Given the description of an element on the screen output the (x, y) to click on. 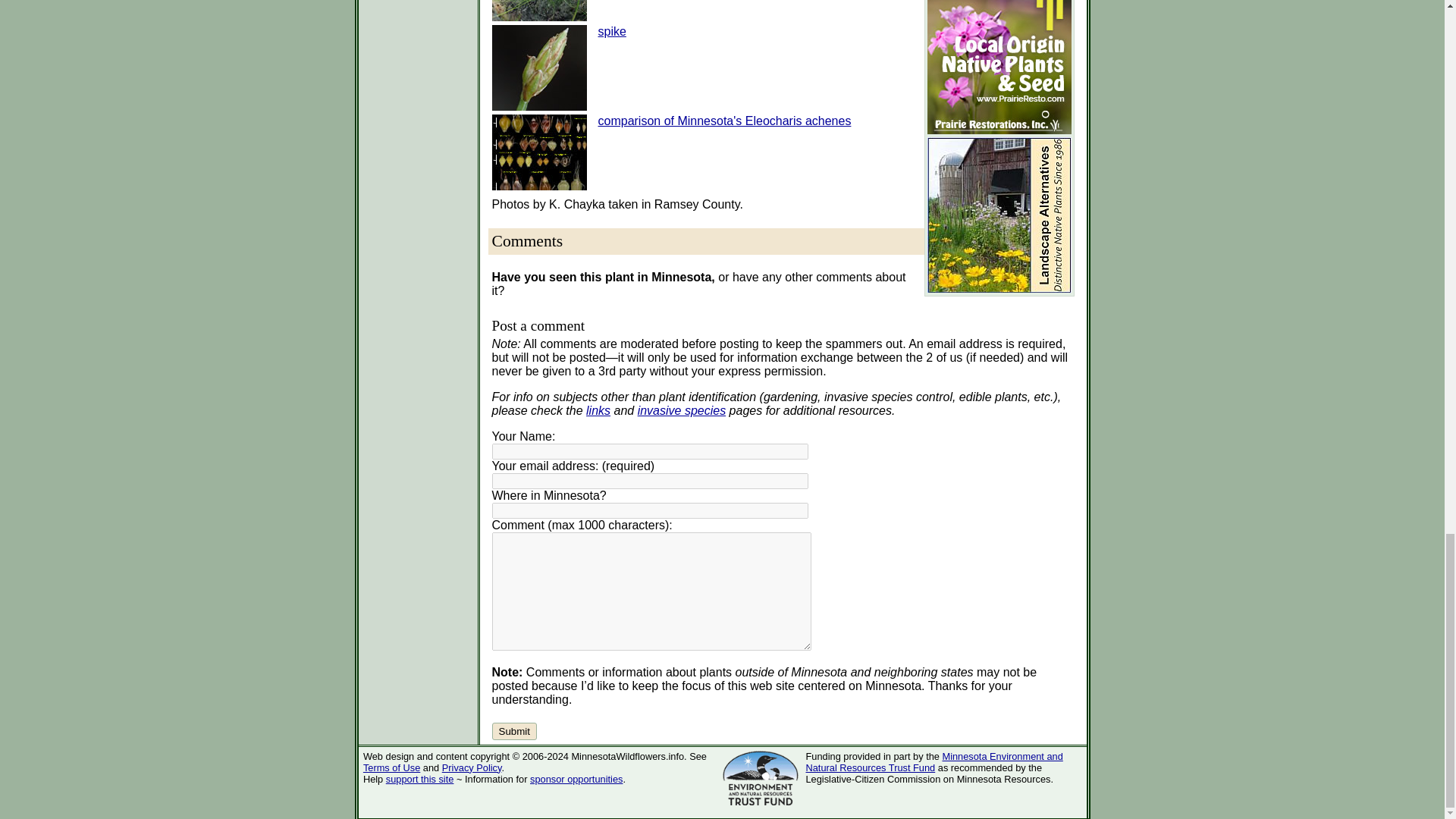
comparison of Minnesota's Eleocharis achenes (723, 120)
invasive species (681, 410)
Submit (513, 731)
Submit (513, 731)
 spike (611, 31)
links (598, 410)
spike (611, 31)
